Given the description of an element on the screen output the (x, y) to click on. 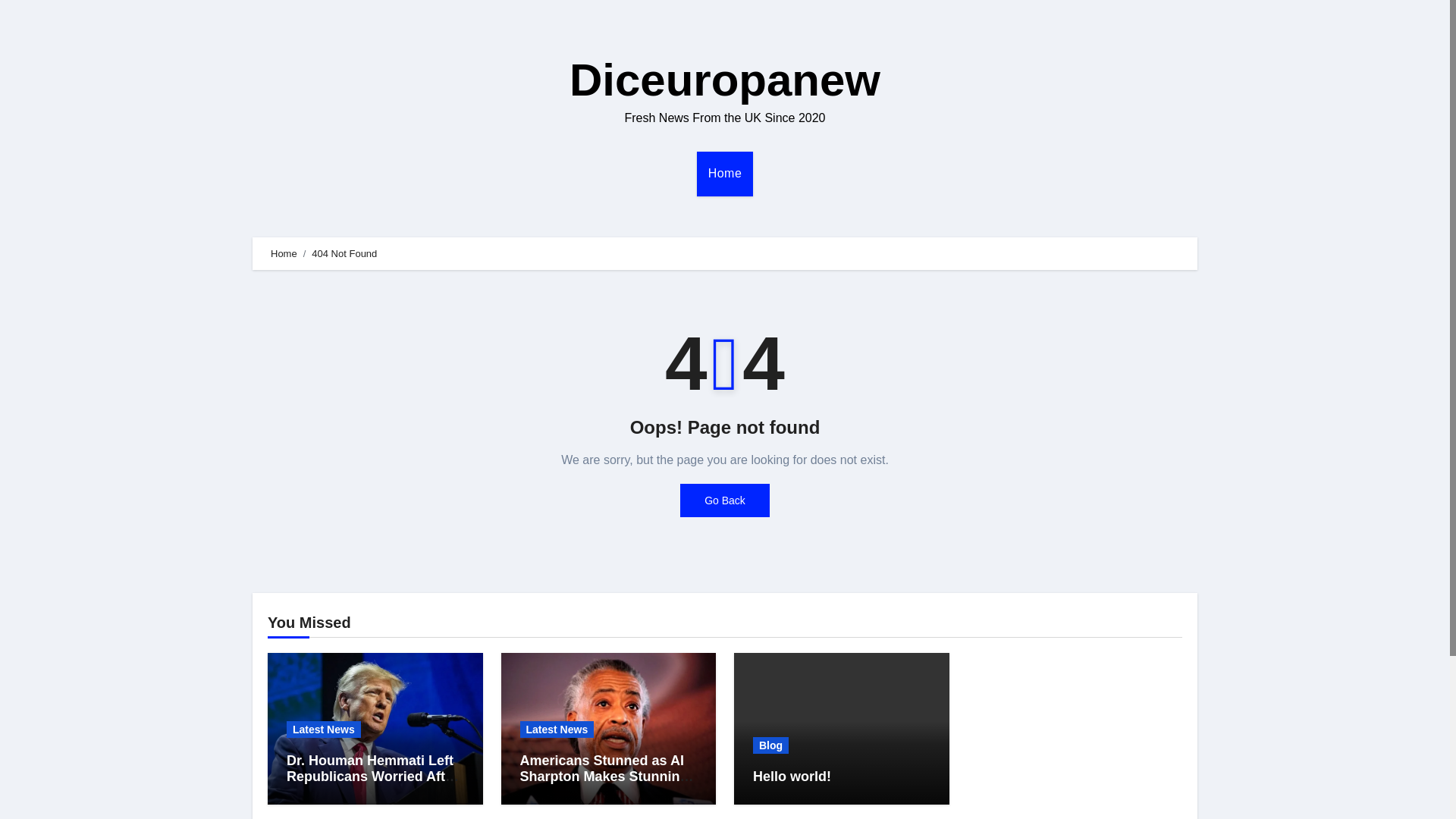
Home (725, 173)
Home (283, 253)
Go Back (724, 500)
Permalink to: Hello world! (791, 776)
Diceuropanew (724, 79)
Latest News (323, 729)
Home (725, 173)
Latest News (556, 729)
Blog (770, 745)
Hello world! (791, 776)
